Given the description of an element on the screen output the (x, y) to click on. 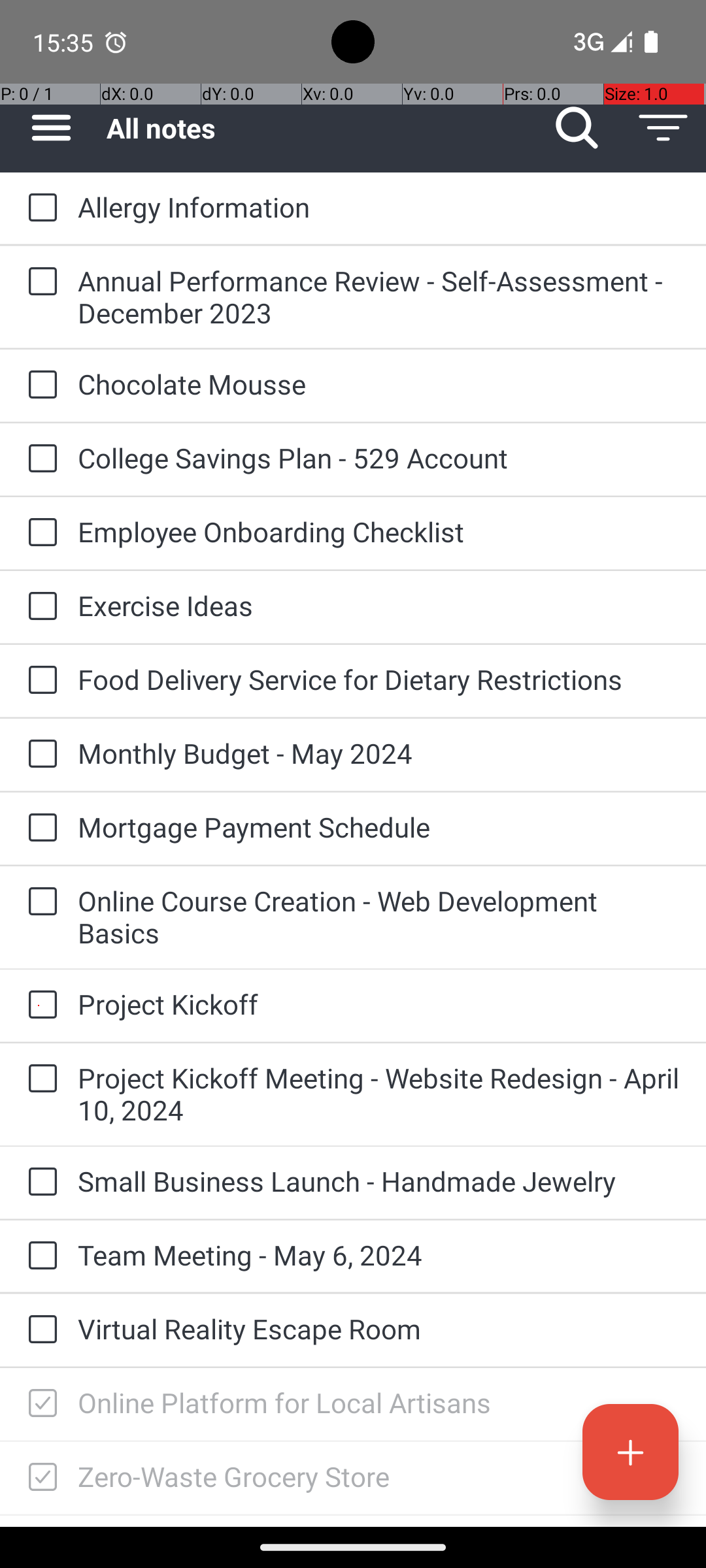
to-do: Chocolate Mousse Element type: android.widget.CheckBox (38, 385)
Chocolate Mousse Element type: android.widget.TextView (378, 383)
to-do: College Savings Plan - 529 Account Element type: android.widget.CheckBox (38, 459)
College Savings Plan - 529 Account Element type: android.widget.TextView (378, 457)
to-do: Employee Onboarding Checklist Element type: android.widget.CheckBox (38, 533)
Employee Onboarding Checklist Element type: android.widget.TextView (378, 531)
to-do: Monthly Budget - May 2024 Element type: android.widget.CheckBox (38, 754)
Monthly Budget - May 2024 Element type: android.widget.TextView (378, 752)
to-do: Mortgage Payment Schedule Element type: android.widget.CheckBox (38, 828)
Mortgage Payment Schedule Element type: android.widget.TextView (378, 826)
to-do: Project Kickoff Element type: android.widget.CheckBox (38, 1005)
Project Kickoff Element type: android.widget.TextView (378, 1003)
to-do: Project Kickoff Meeting - Website Redesign - April 10, 2024 Element type: android.widget.CheckBox (38, 1079)
Project Kickoff Meeting - Website Redesign - April 10, 2024 Element type: android.widget.TextView (378, 1093)
to-do: Small Business Launch - Handmade Jewelry Element type: android.widget.CheckBox (38, 1182)
Small Business Launch - Handmade Jewelry Element type: android.widget.TextView (378, 1180)
to-do: Virtual Reality Escape Room Element type: android.widget.CheckBox (38, 1330)
Virtual Reality Escape Room Element type: android.widget.TextView (378, 1328)
to-do: Online Platform for Local Artisans Element type: android.widget.CheckBox (38, 1403)
Online Platform for Local Artisans Element type: android.widget.TextView (378, 1402)
to-do: Zero-Waste Grocery Store Element type: android.widget.CheckBox (38, 1477)
Zero-Waste Grocery Store Element type: android.widget.TextView (378, 1475)
